Given the description of an element on the screen output the (x, y) to click on. 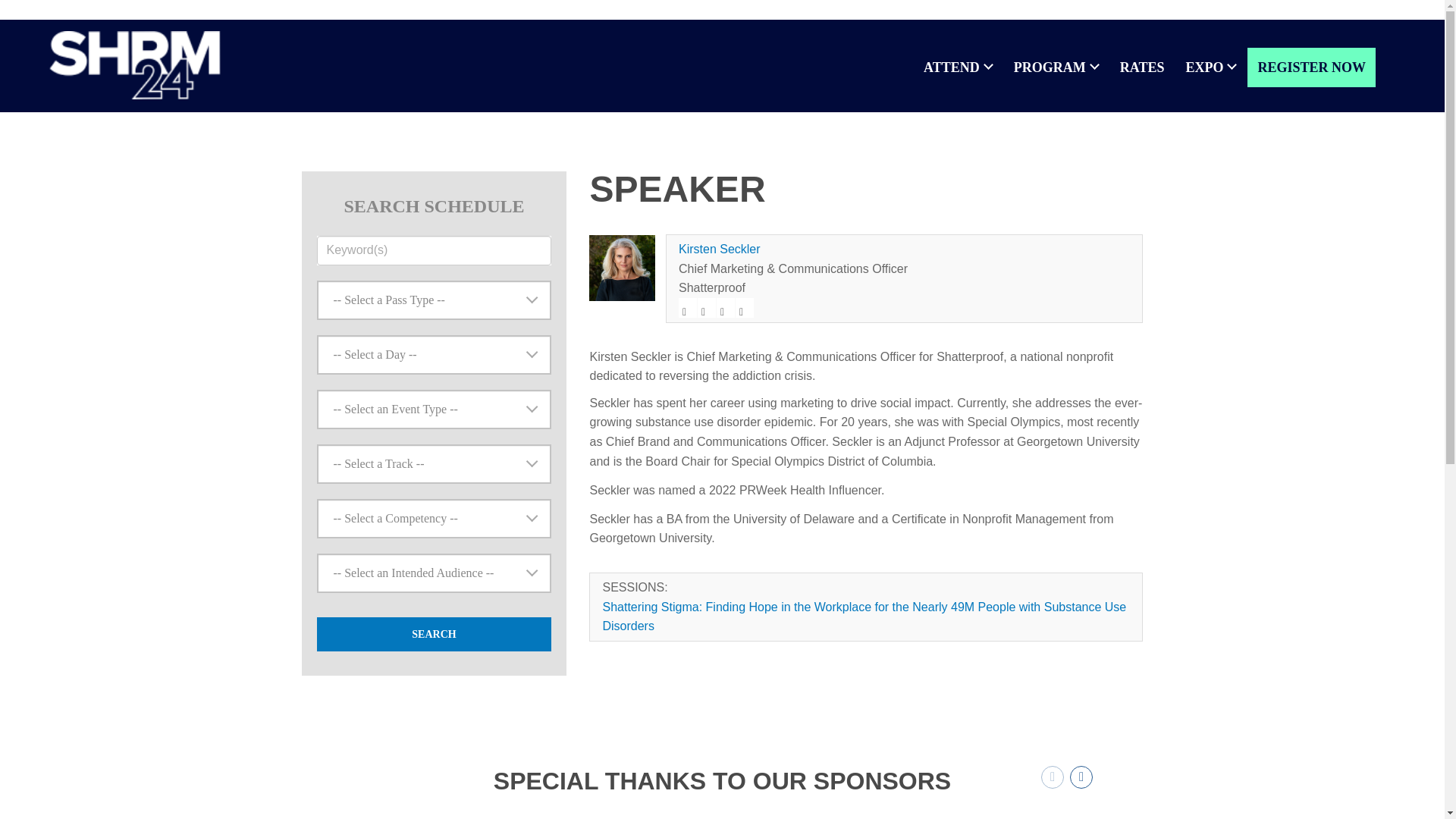
EXPO (1210, 67)
Home (131, 65)
PROGRAM (1056, 67)
SEARCH (434, 634)
Kirsten Seckler (719, 248)
REGISTER NOW (1311, 66)
ATTEND (958, 67)
RATES (1141, 67)
